Given the description of an element on the screen output the (x, y) to click on. 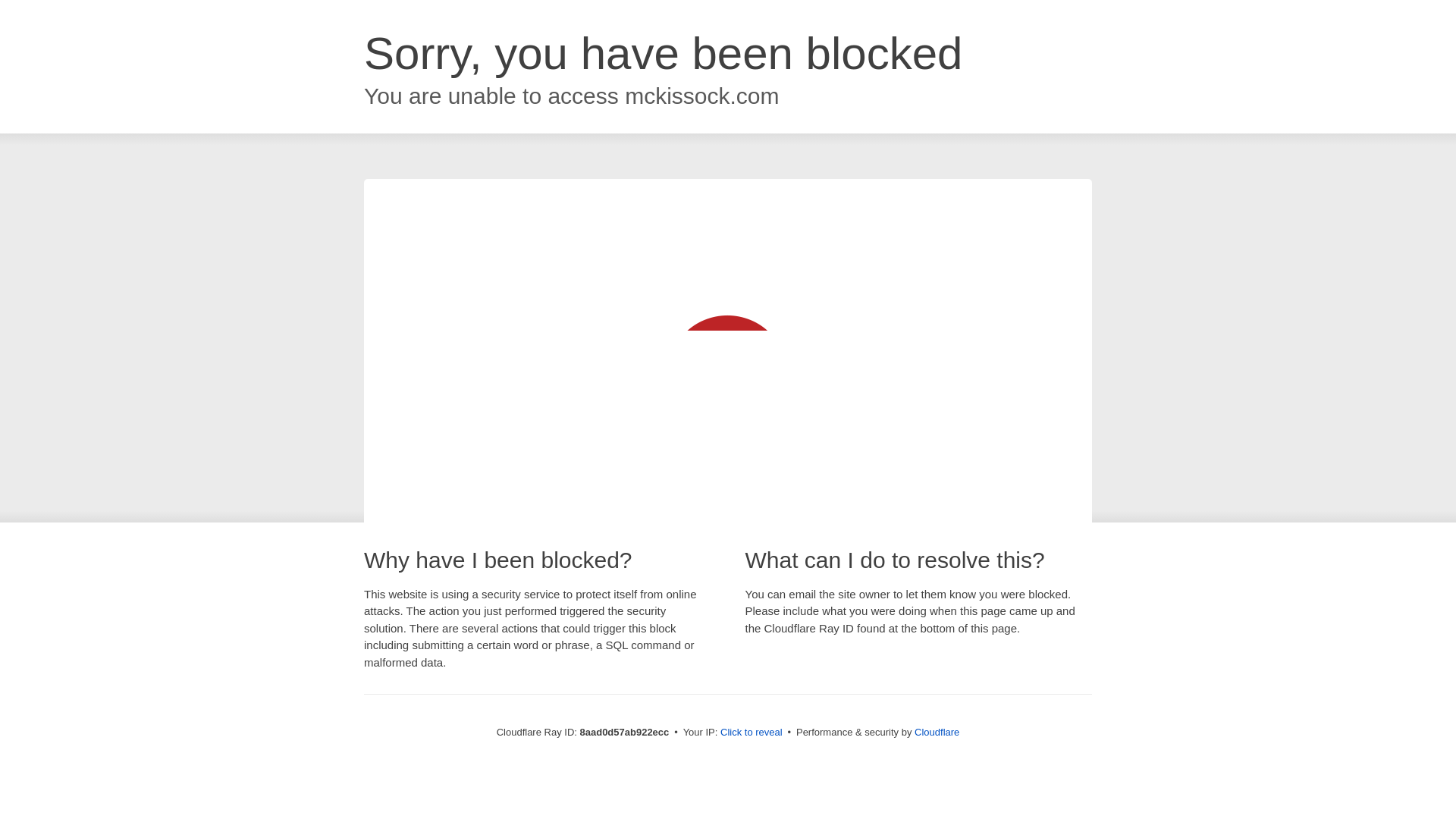
Cloudflare (936, 731)
Click to reveal (751, 732)
